Given the description of an element on the screen output the (x, y) to click on. 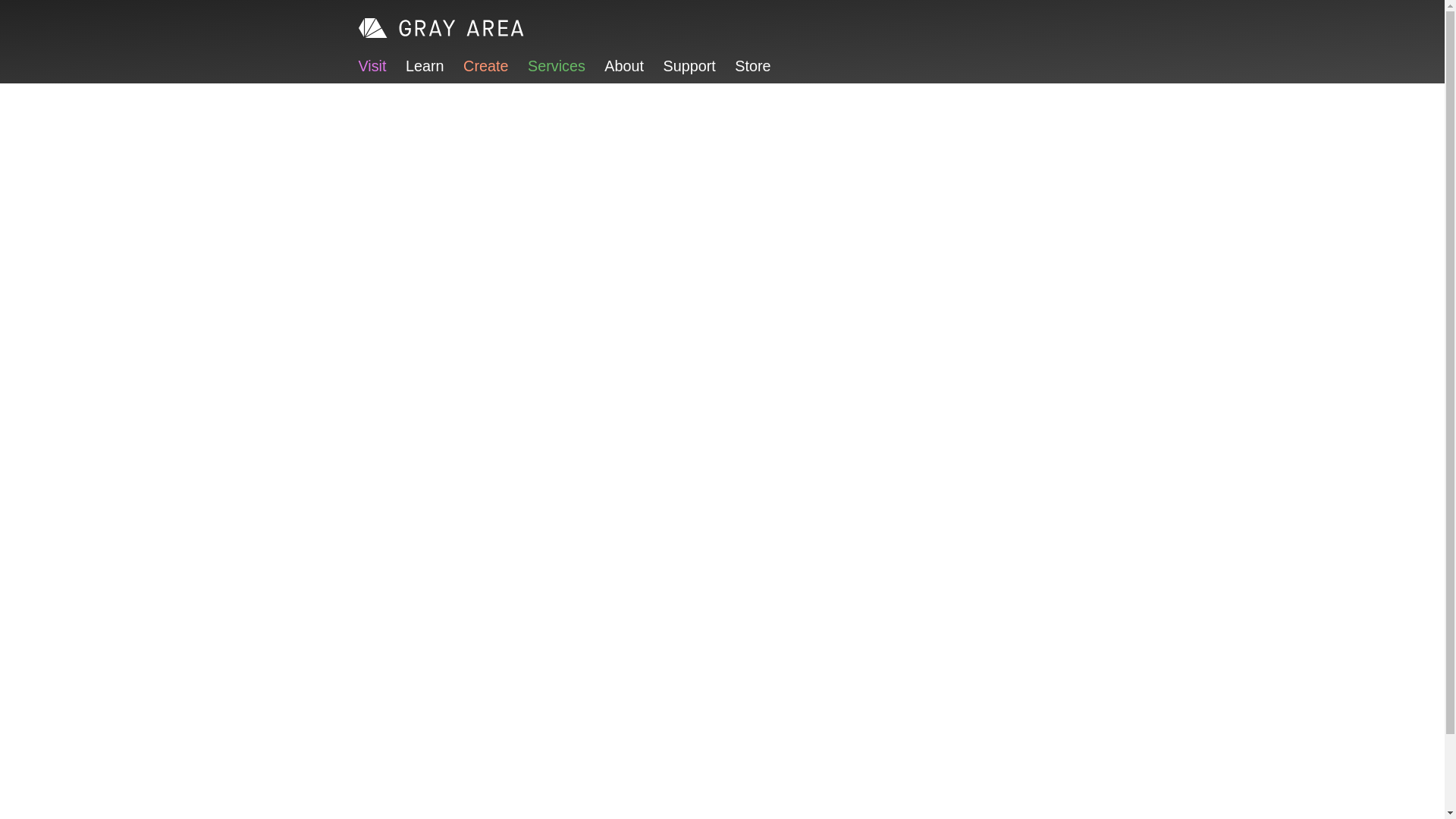
Services (556, 65)
About (623, 65)
Home (441, 26)
Create (485, 65)
Support (689, 65)
Visit (371, 65)
Learn (425, 65)
Store (752, 65)
